Given the description of an element on the screen output the (x, y) to click on. 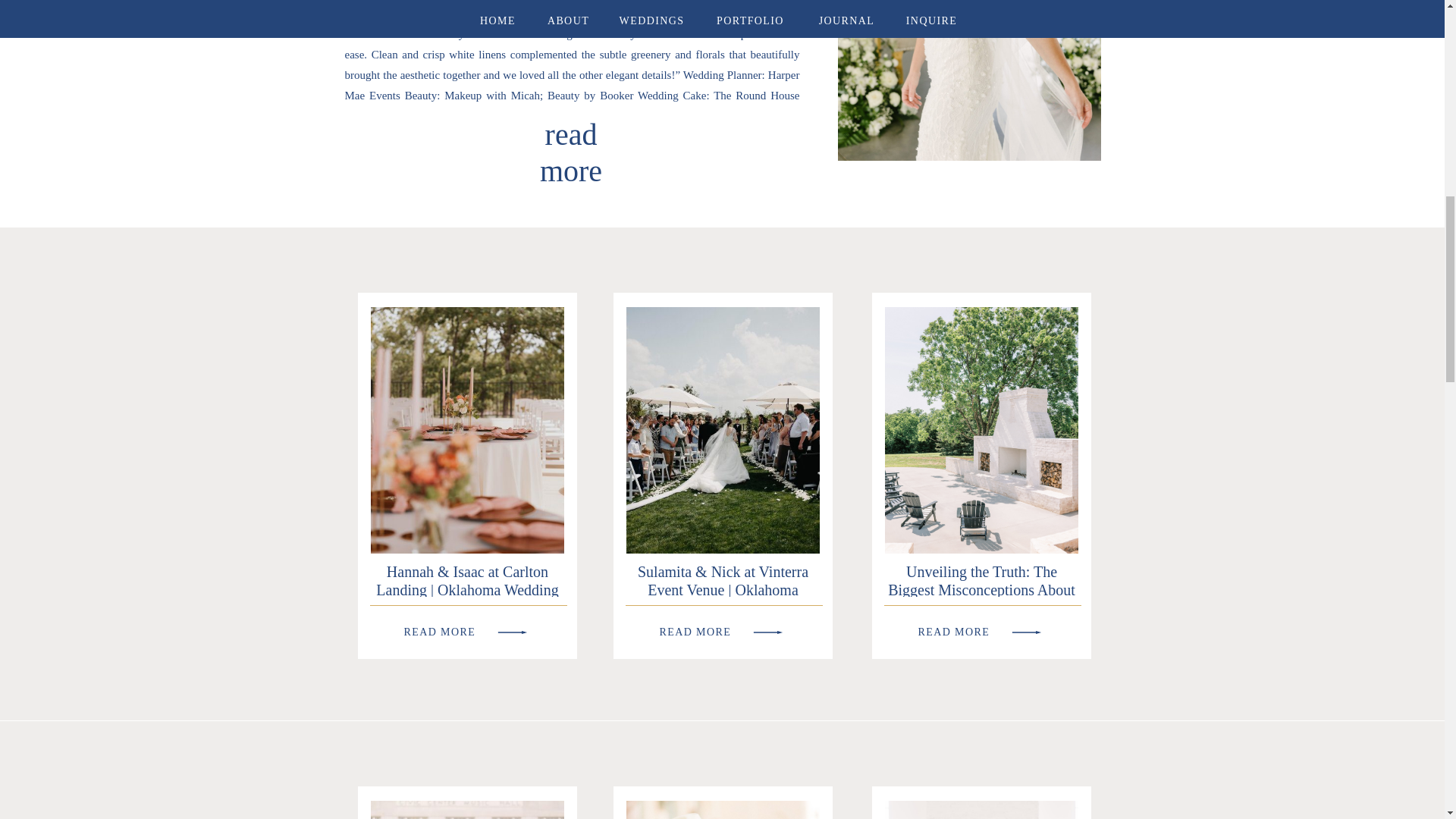
READ MORE (726, 629)
READ MORE (984, 629)
read more (570, 127)
READ MORE (470, 629)
